Given the description of an element on the screen output the (x, y) to click on. 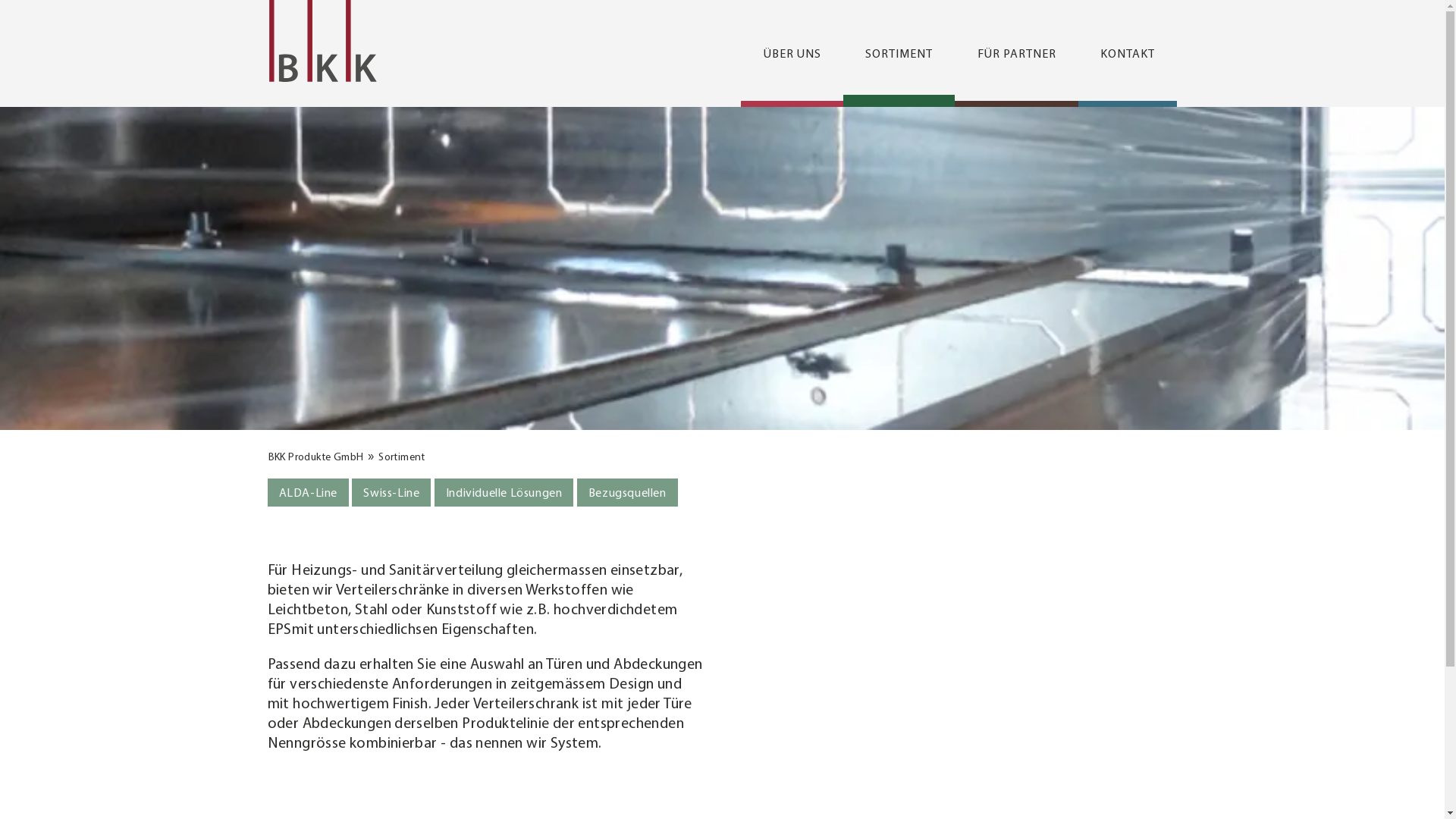
Swiss-Line Element type: text (390, 492)
ALDA-Line Element type: text (307, 492)
Bezugsquellen Element type: text (627, 492)
BKK Produkte GmbH Element type: text (315, 456)
Logo BKK Element type: hover (322, 40)
KONTAKT Element type: text (1127, 53)
